Given the description of an element on the screen output the (x, y) to click on. 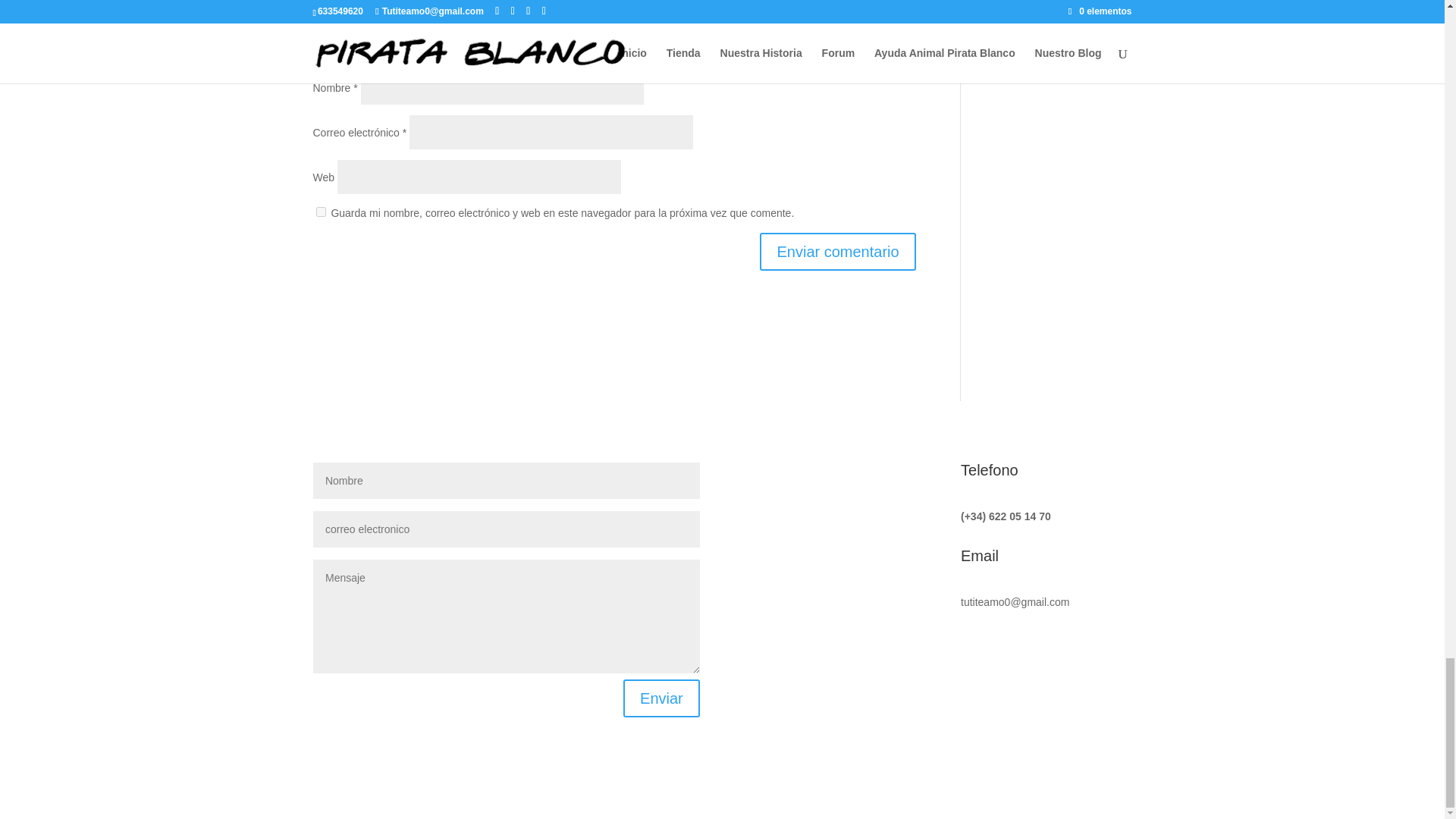
Enviar comentario (837, 251)
Enviar (661, 698)
yes (319, 212)
Enviar comentario (837, 251)
